Given the description of an element on the screen output the (x, y) to click on. 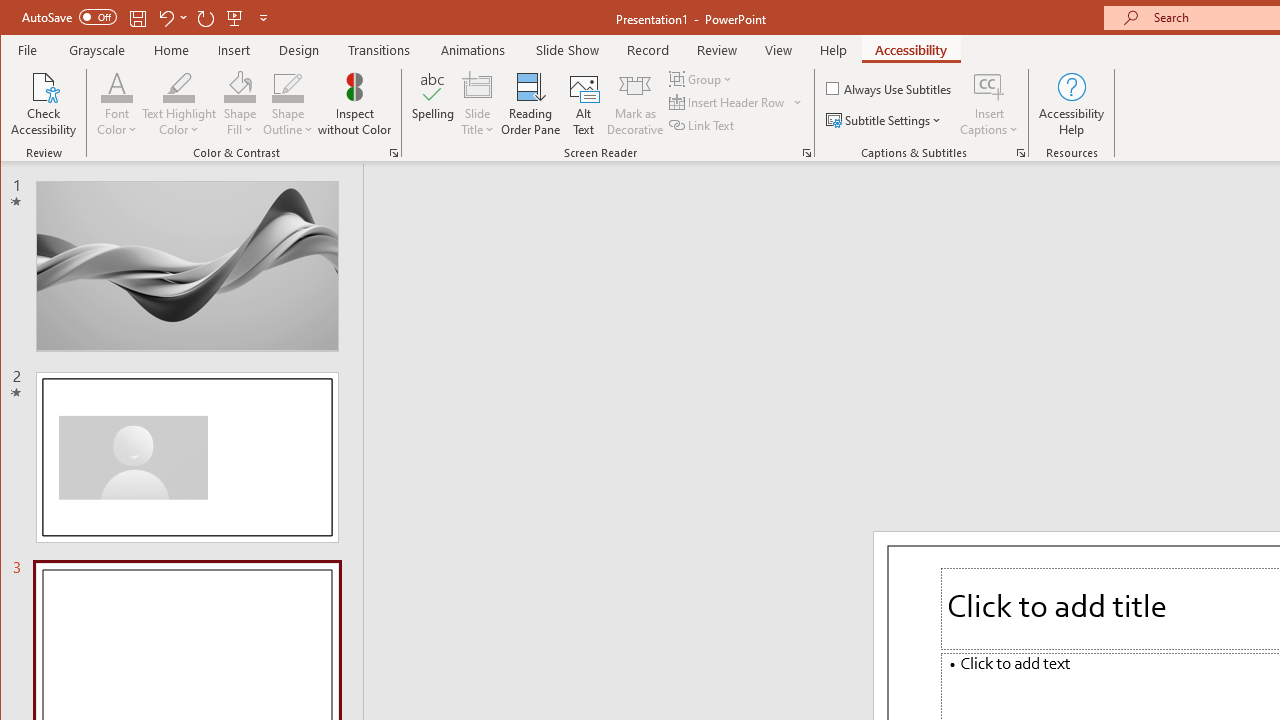
Insert Captions (989, 104)
Mark as Decorative (635, 104)
Color & Contrast (393, 152)
Reading Order Pane (531, 104)
Alt Text (584, 104)
